Given the description of an element on the screen output the (x, y) to click on. 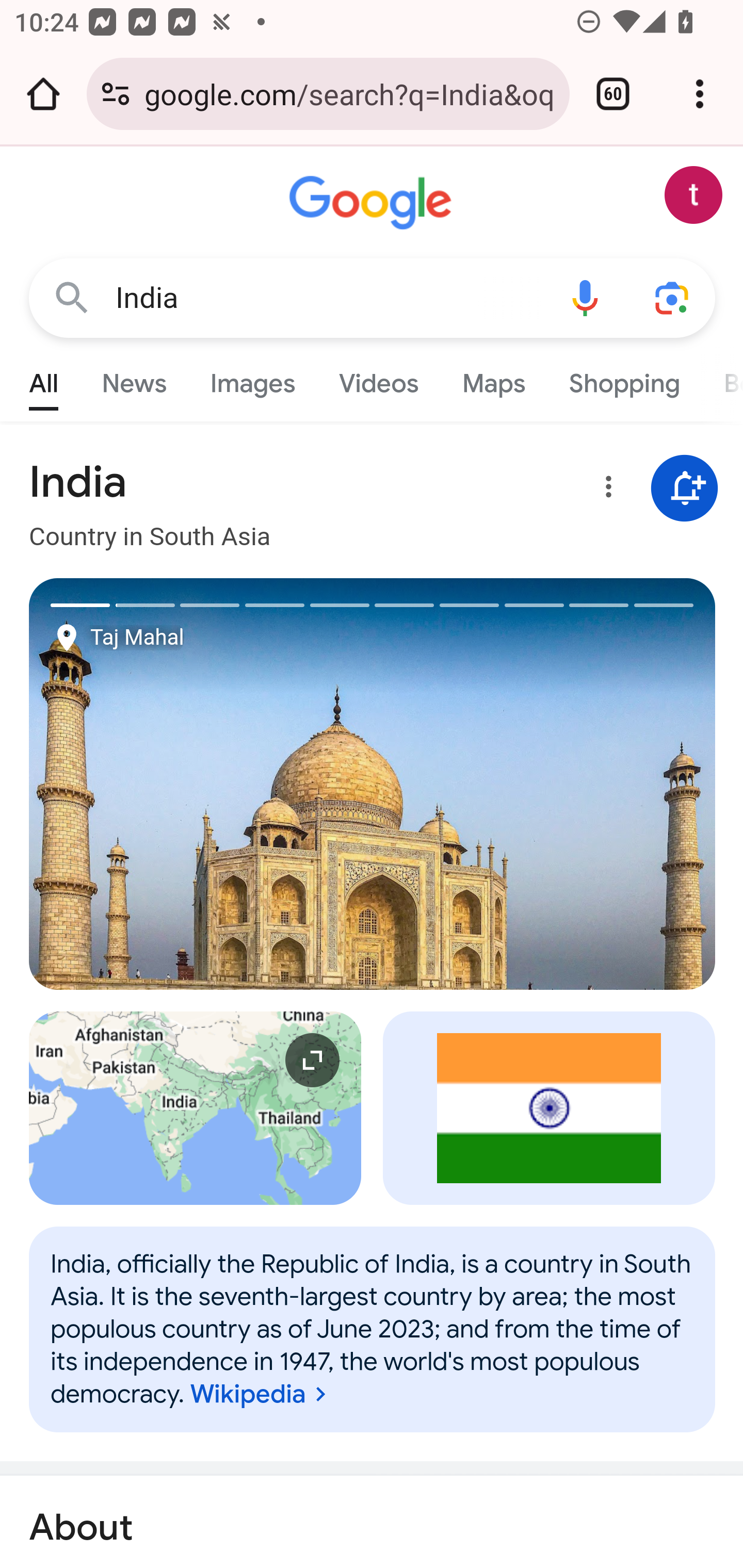
Open the home page (43, 93)
Connection is secure (115, 93)
Switch or close tabs (612, 93)
Customize and control Google Chrome (699, 93)
Google (372, 203)
Google Search (71, 296)
Search using your camera or photos (672, 296)
India (328, 297)
News (134, 378)
Images (252, 378)
Videos (378, 378)
Maps (493, 378)
Shopping (623, 378)
Get notifications about India (684, 489)
More options (605, 489)
Previous image (200, 783)
Next image (544, 783)
Expand map (195, 1108)
Image of the flag. (549, 1108)
India (372, 1328)
